Given the description of an element on the screen output the (x, y) to click on. 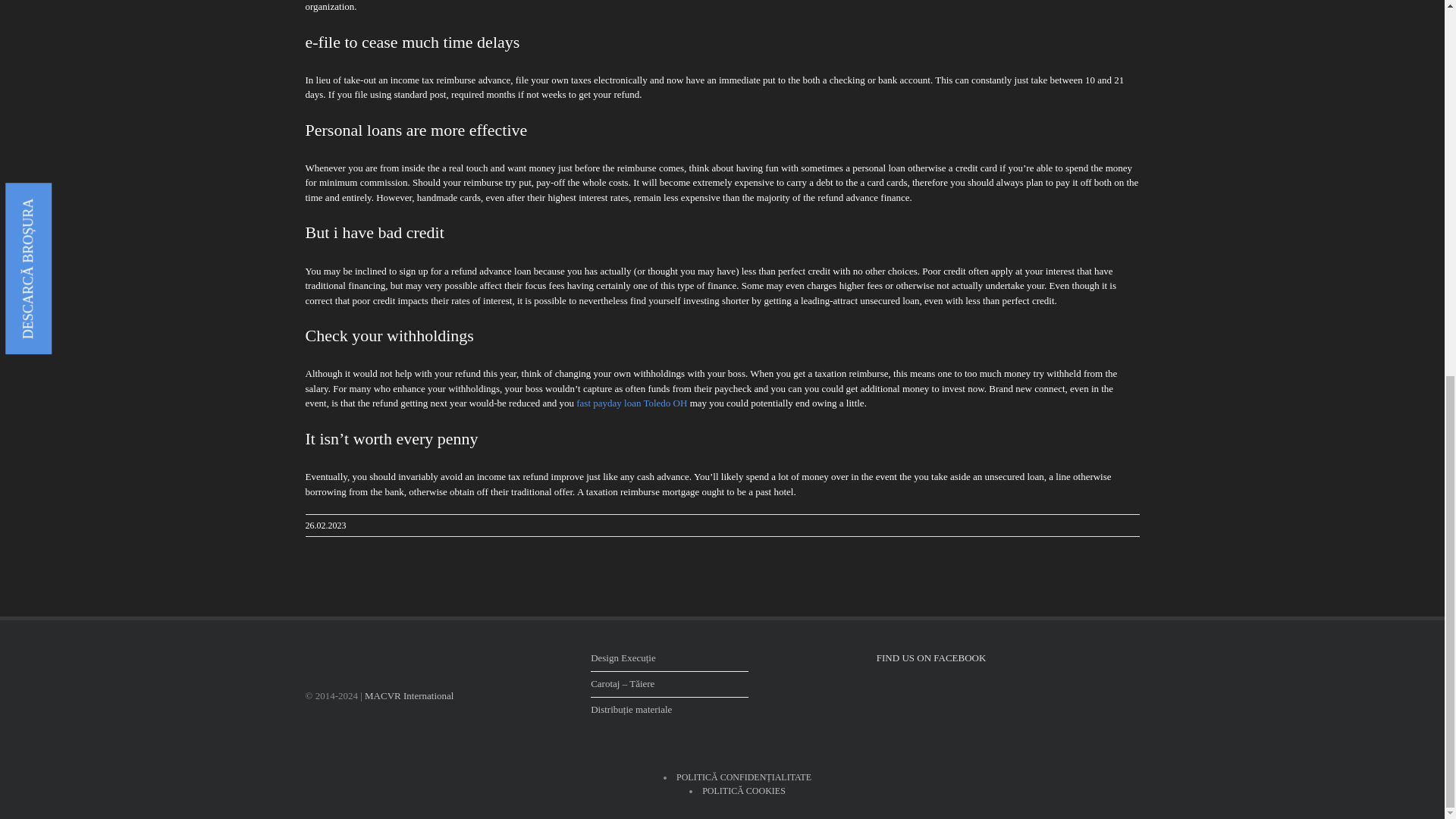
MACVR International (408, 695)
fast payday loan Toledo OH (631, 402)
